Given the description of an element on the screen output the (x, y) to click on. 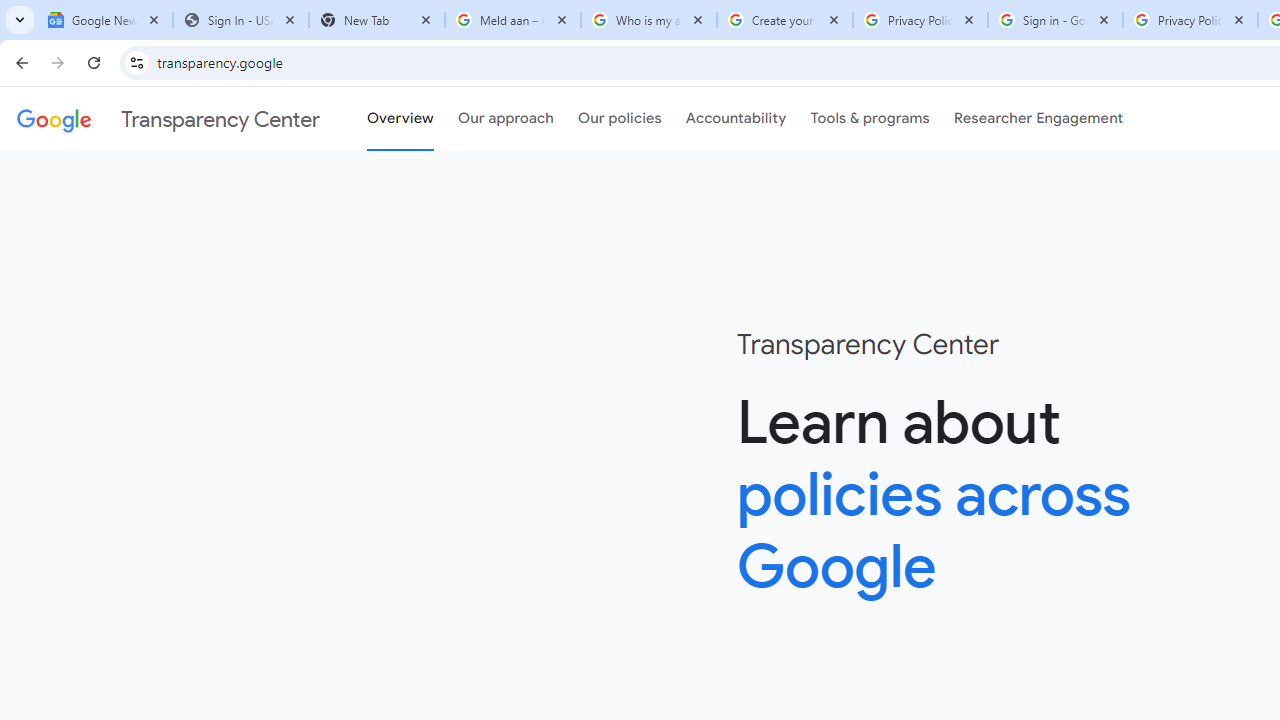
Sign in - Google Accounts (1055, 20)
Our approach (506, 119)
Transparency Center (167, 119)
Google News (104, 20)
Sign In - USA TODAY (240, 20)
Tools & programs (869, 119)
